Given the description of an element on the screen output the (x, y) to click on. 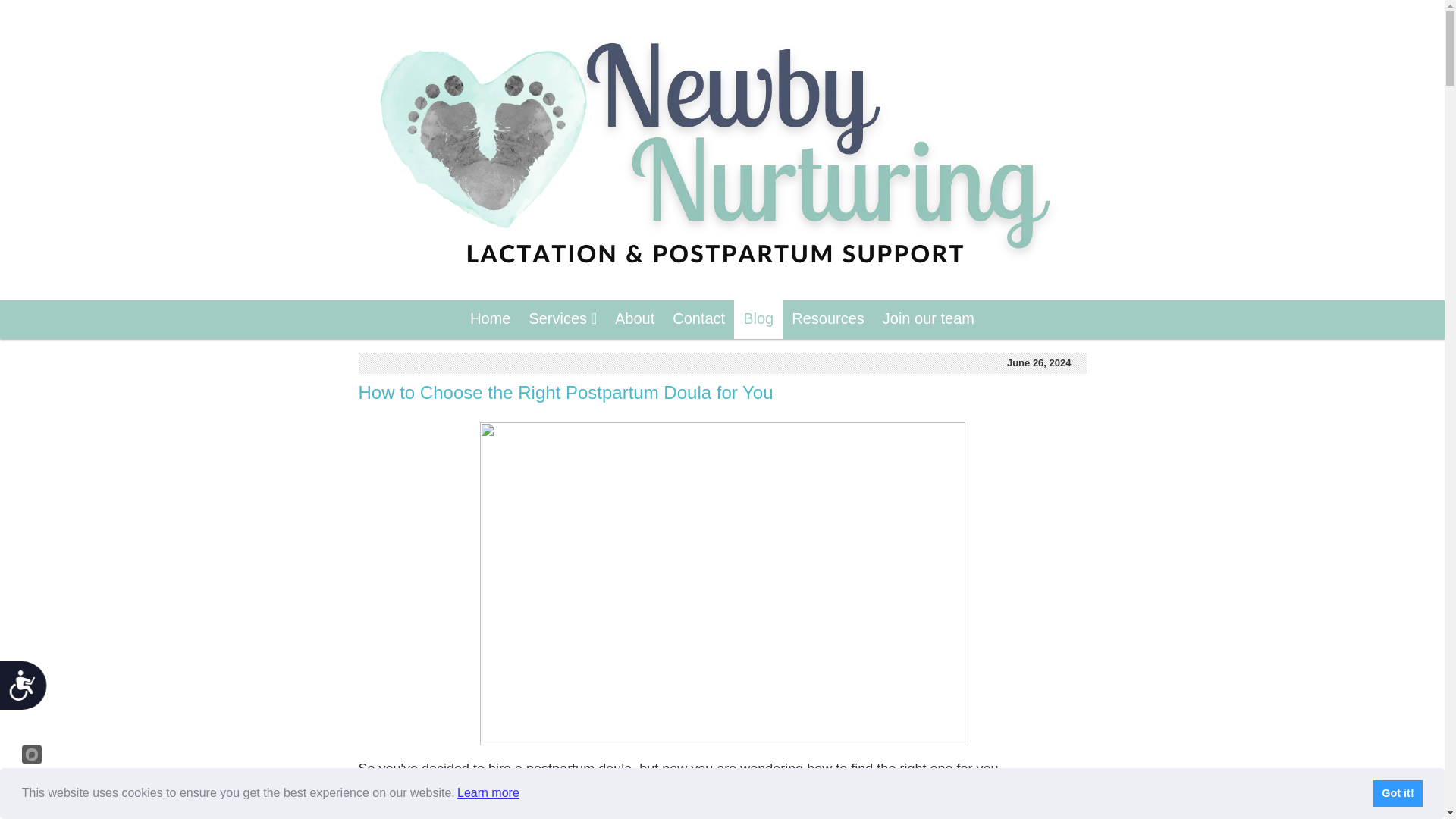
Join our team (928, 319)
About (634, 319)
Resources (828, 319)
Accessibility (29, 690)
Contact (698, 319)
How to Choose the Right Postpartum Doula for You (565, 392)
Blog (758, 319)
Services (562, 319)
Home (490, 319)
